Given the description of an element on the screen output the (x, y) to click on. 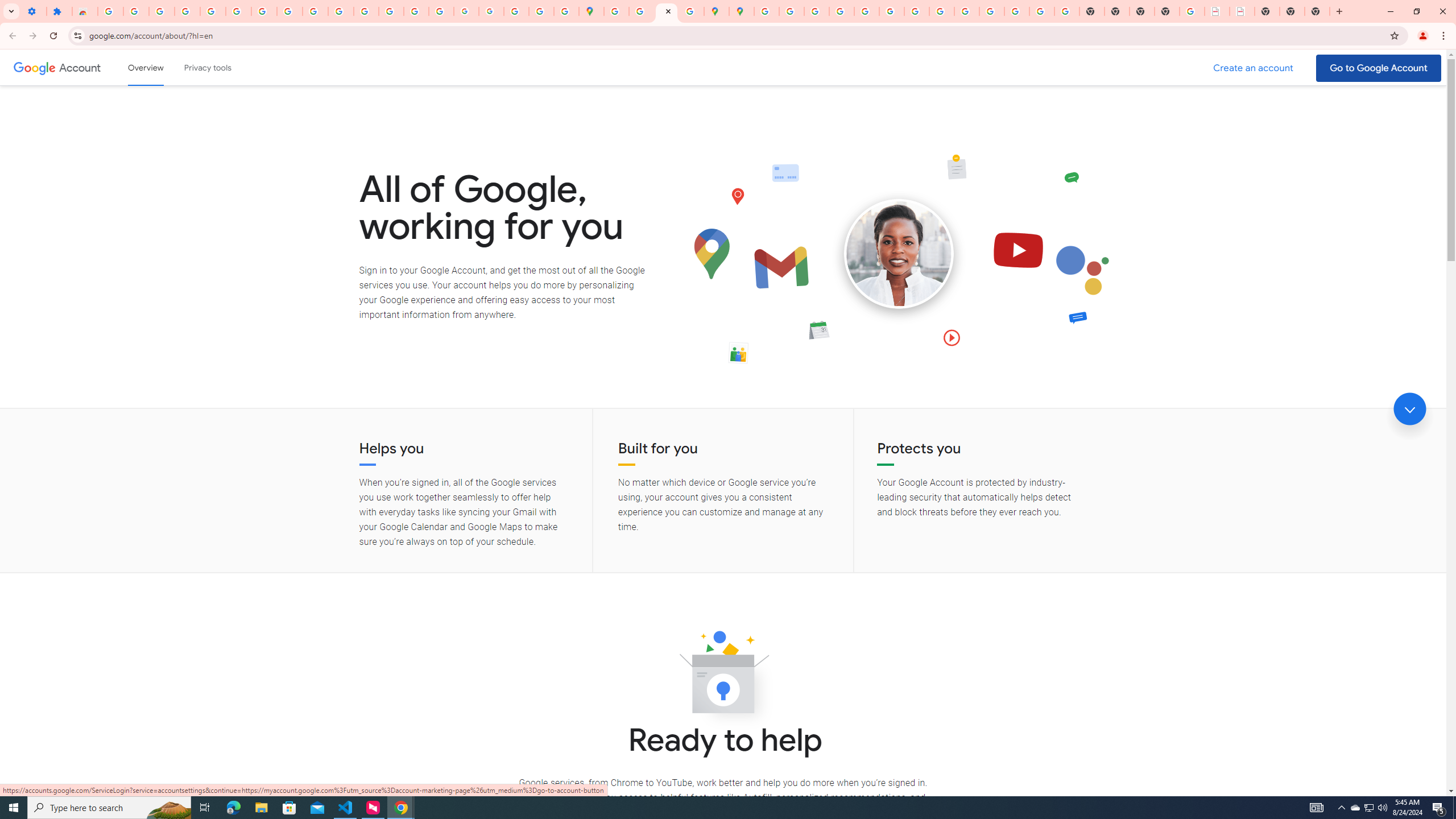
Google Account overview (145, 67)
Google Images (1066, 11)
Go to your Google Account (1378, 67)
LAAD Defence & Security 2025 | BAE Systems (1216, 11)
